Given the description of an element on the screen output the (x, y) to click on. 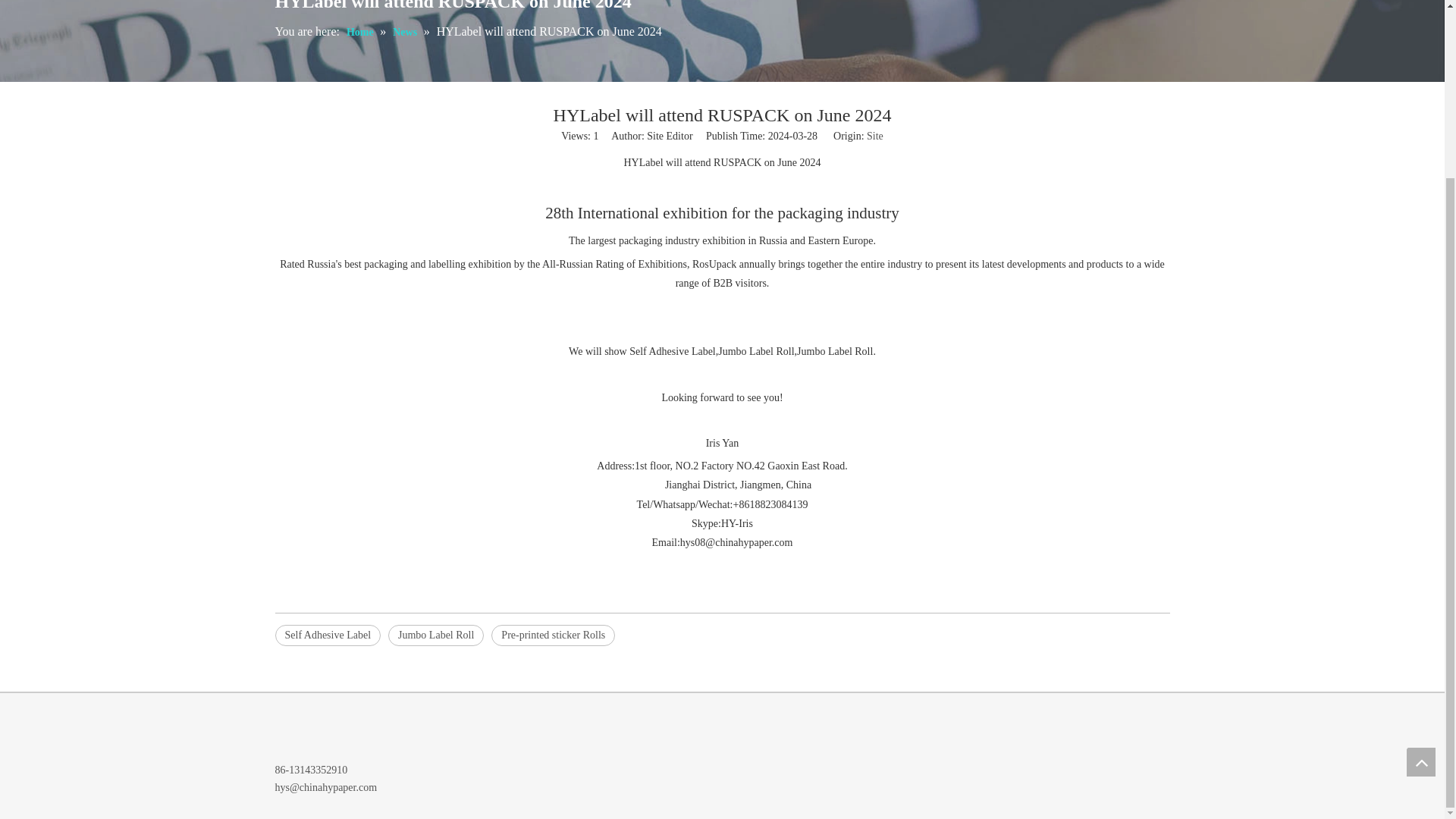
News (406, 31)
Self Adhesive Label (327, 634)
Jumbo Label Roll (435, 634)
Jumbo Label Roll (435, 634)
Self Adhesive Label (327, 634)
Pre-printed sticker Rolls (553, 634)
Pre-printed sticker Rolls (553, 634)
Site (874, 135)
Home (360, 31)
